Given the description of an element on the screen output the (x, y) to click on. 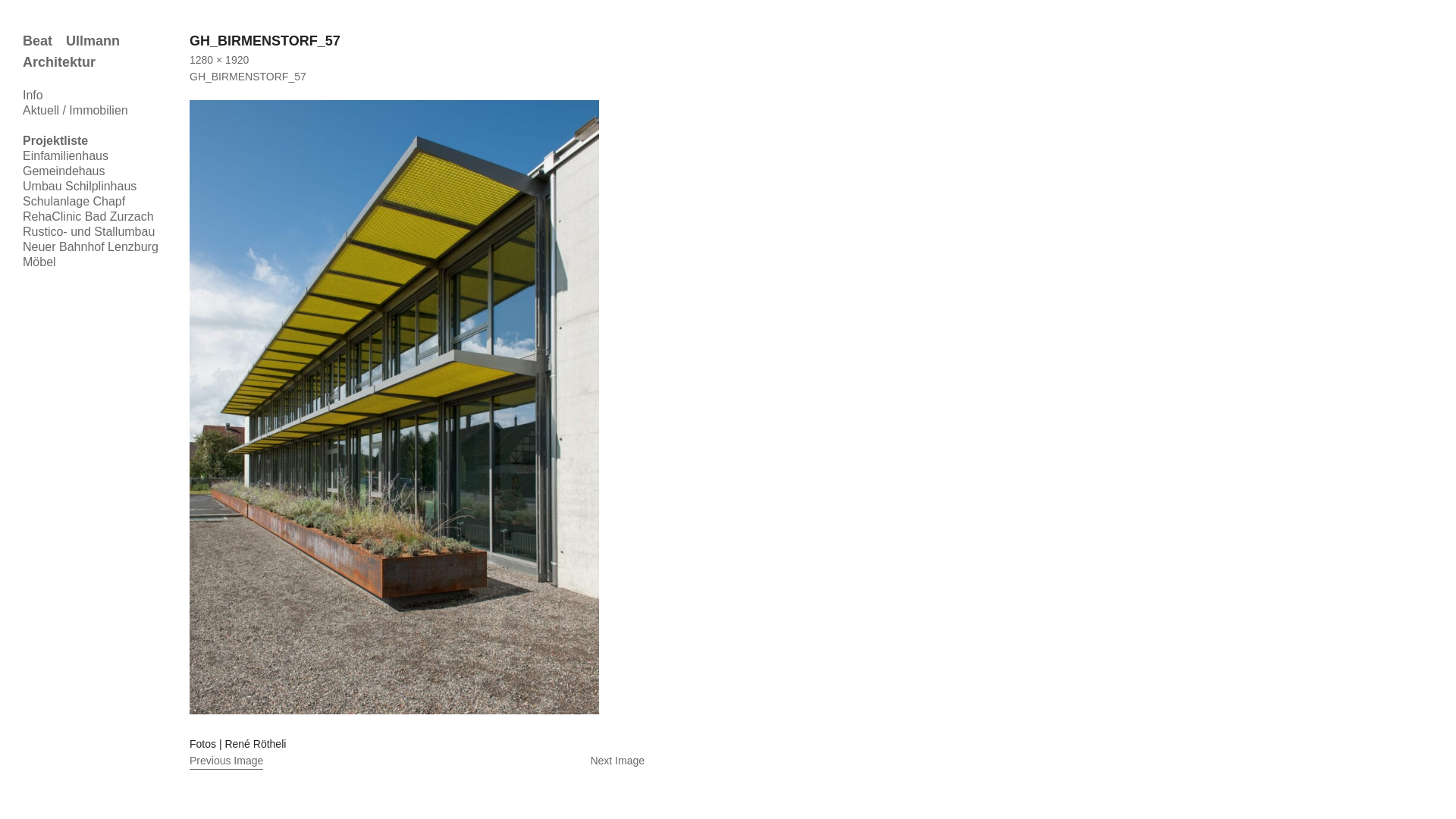
Umbau Schilplinhaus Element type: text (79, 185)
Next Image Element type: text (416, 760)
Aktuell / Immobilien Element type: text (75, 109)
Skip to content Element type: text (57, 95)
Info Element type: text (32, 94)
Rustico- und Stallumbau Element type: text (88, 231)
GH_BIRMENSTORF_57 Element type: text (247, 76)
Gemeindehaus Element type: text (63, 170)
Previous Image Element type: text (226, 760)
Einfamilienhaus Element type: text (65, 155)
Neuer Bahnhof Lenzburg Element type: text (90, 246)
Schulanlage Chapf Element type: text (73, 200)
Projektliste Element type: text (54, 140)
RehaClinic Bad Zurzach Element type: text (87, 216)
